Given the description of an element on the screen output the (x, y) to click on. 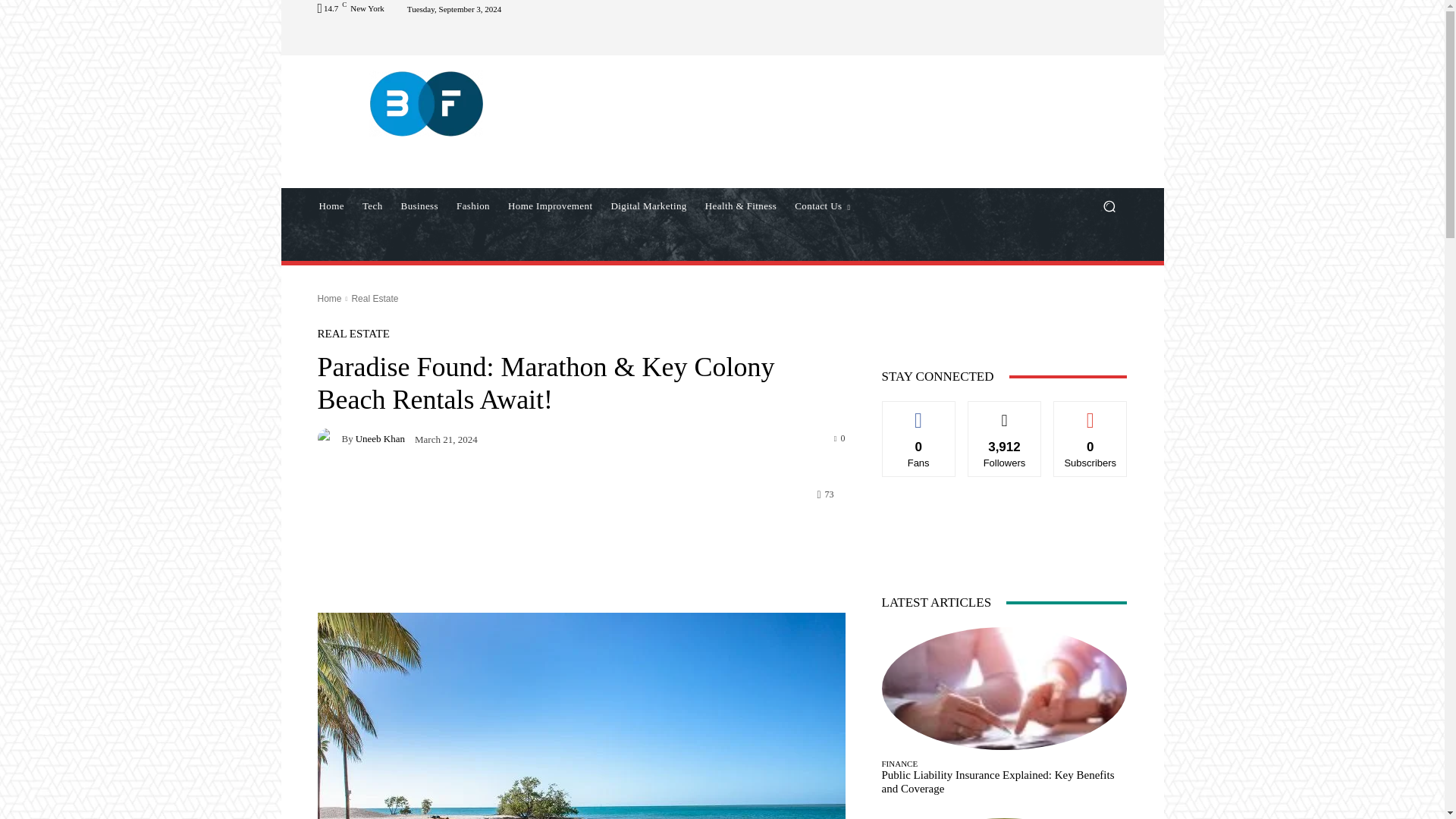
Uneeb Khan (328, 437)
Sombrero Beach Rentals (580, 715)
Home Improvement (550, 206)
Contact Us (822, 206)
Business (418, 206)
Tech (372, 206)
Fashion (472, 206)
View all posts in Real Estate (373, 298)
Home (330, 206)
Digital Marketing (648, 206)
